Given the description of an element on the screen output the (x, y) to click on. 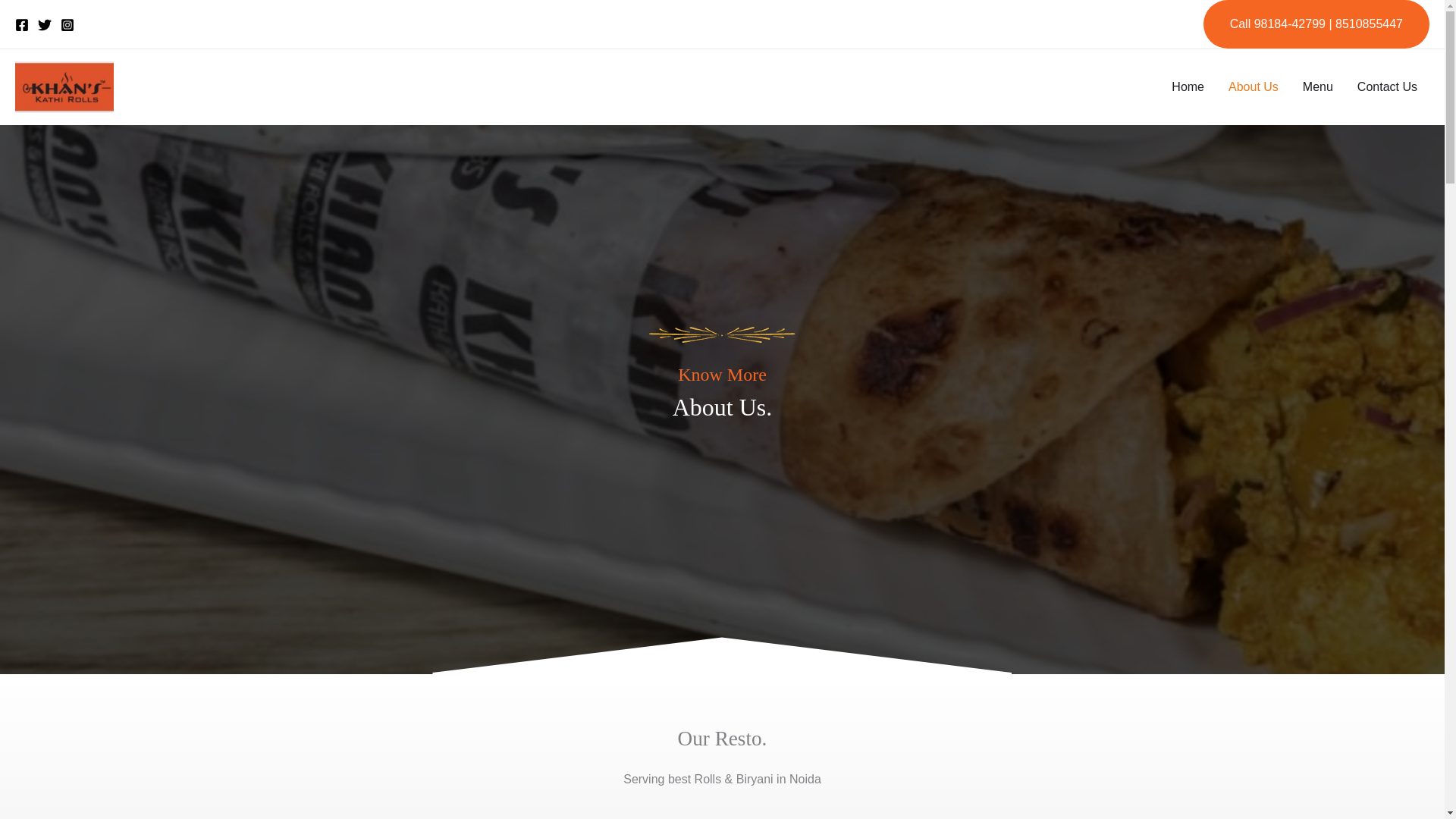
Contact Us (1387, 86)
Home (1186, 86)
Menu (1317, 86)
About Us (1252, 86)
